Given the description of an element on the screen output the (x, y) to click on. 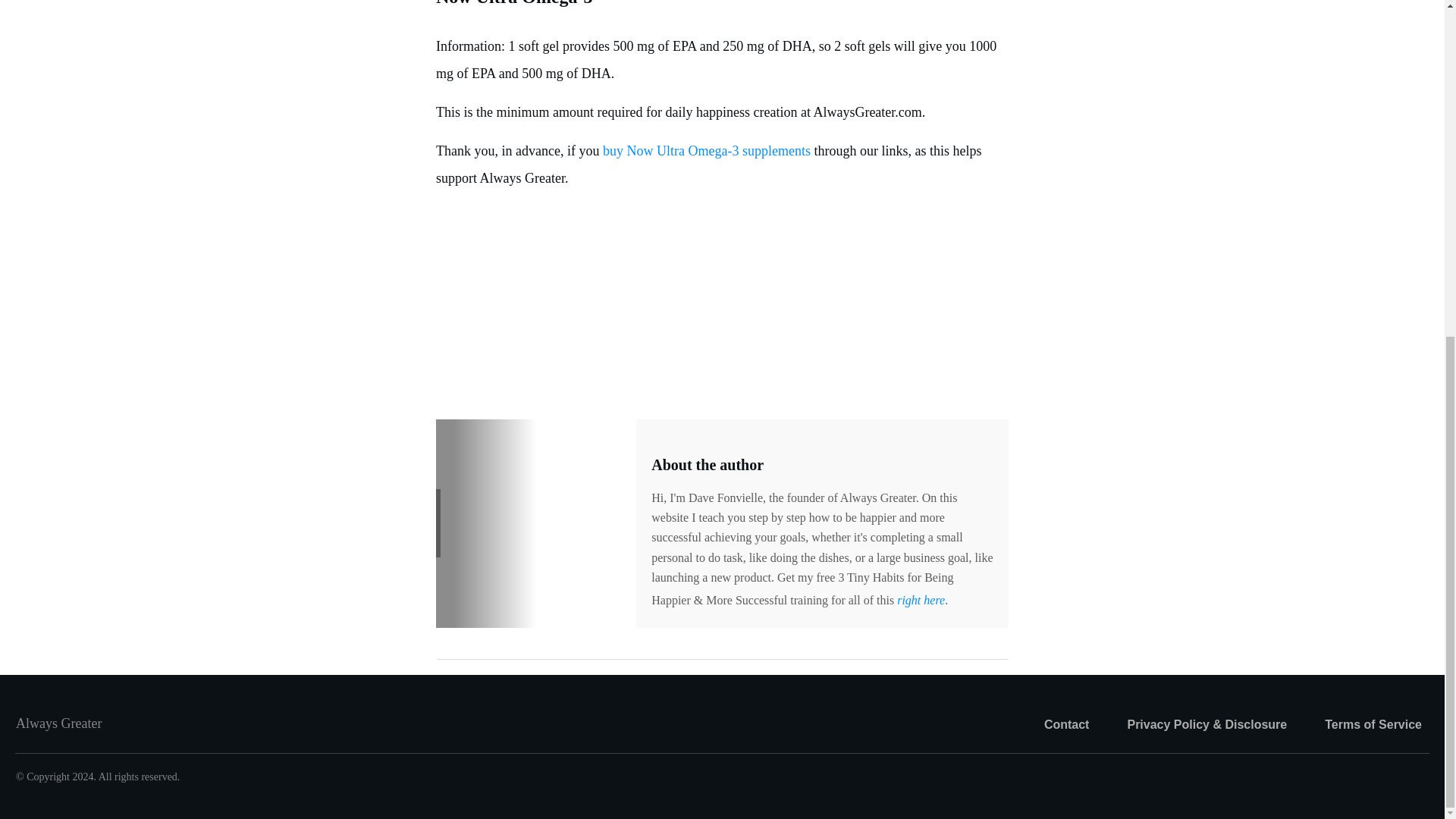
right here (920, 599)
Contact (1066, 724)
buy Now Ultra Omega-3 supplements (703, 150)
Now Ultra Omega-3 Supplements (703, 150)
All rights reserved (138, 776)
Terms of Service (1373, 724)
